Given the description of an element on the screen output the (x, y) to click on. 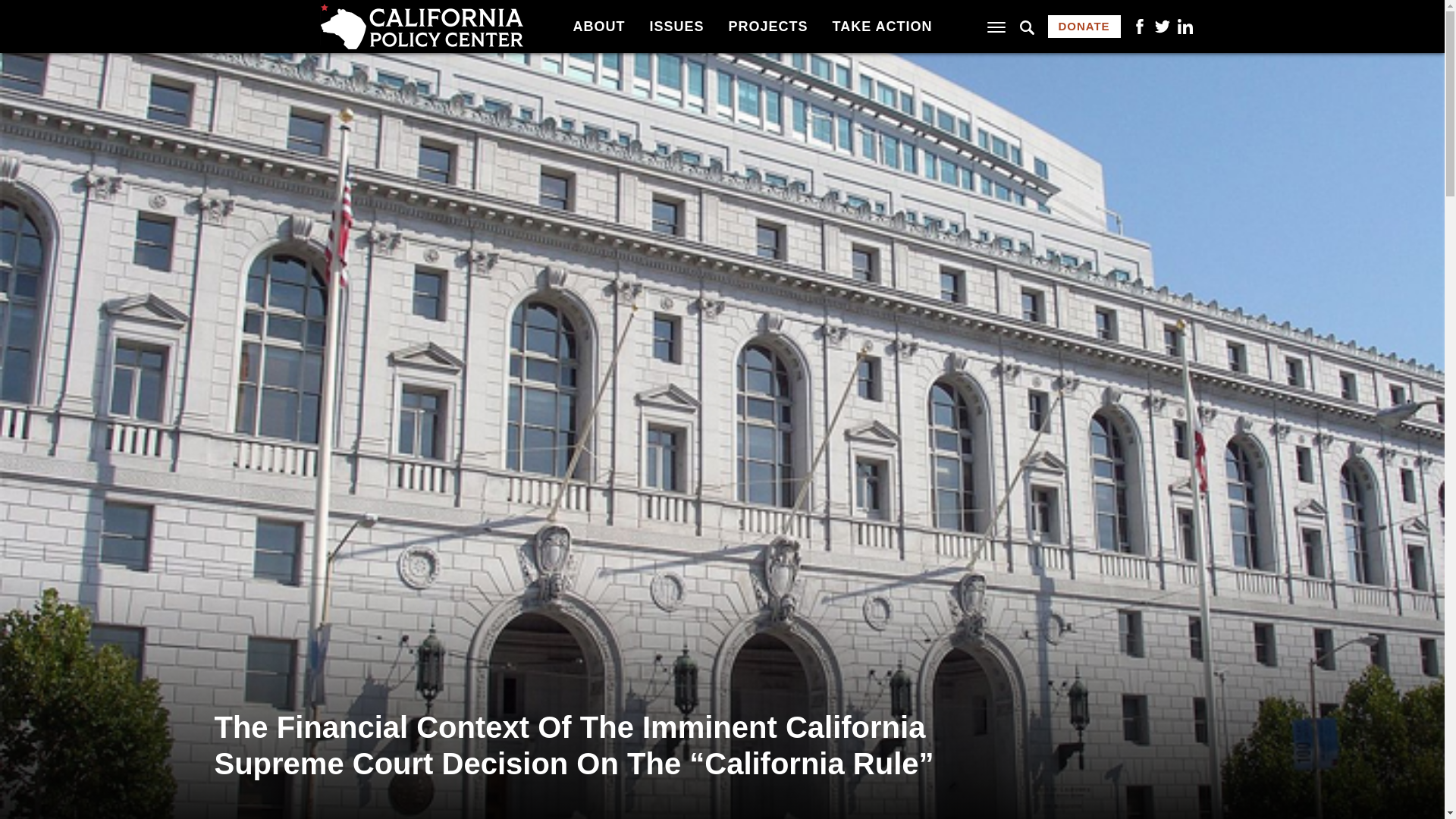
PROJECTS (768, 26)
ABOUT (598, 26)
Newsletter Signup (871, 14)
The California Book of Exoduses (650, 11)
Finance (367, 14)
Pensions (606, 14)
Policy Reports (858, 14)
Parent Union (384, 14)
Californians for Energy and Water Abundance (901, 11)
Contact Us (612, 14)
Our Team (373, 14)
ISSUES (676, 26)
DONATE (1084, 26)
TAKE ACTION (882, 26)
